Given the description of an element on the screen output the (x, y) to click on. 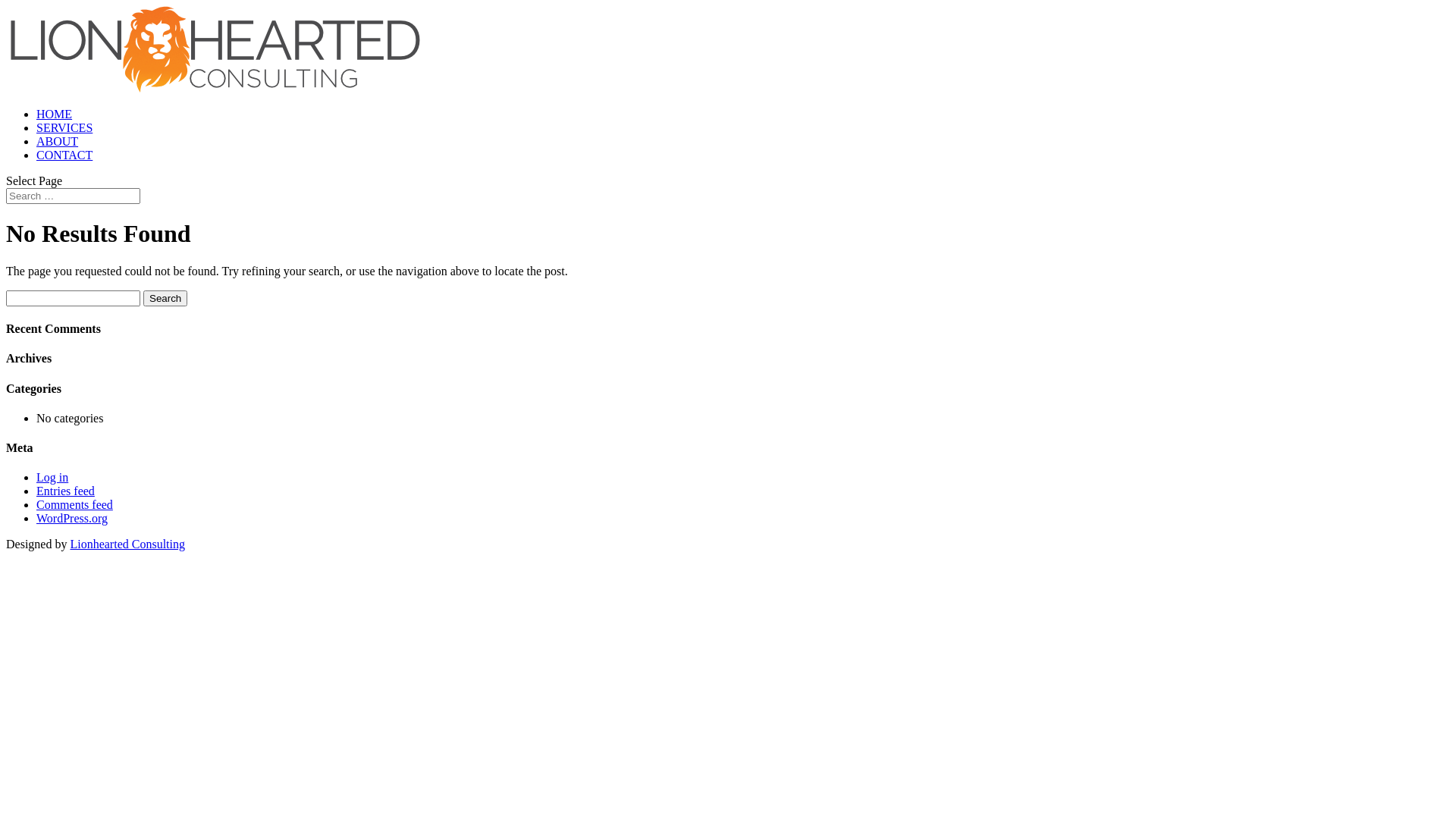
SERVICES Element type: text (64, 127)
Entries feed Element type: text (65, 490)
WordPress.org Element type: text (71, 517)
Comments feed Element type: text (74, 504)
Log in Element type: text (52, 476)
Search Element type: text (165, 298)
Search for: Element type: hover (73, 195)
ABOUT Element type: text (57, 140)
CONTACT Element type: text (64, 154)
HOME Element type: text (54, 113)
Lionhearted Consulting Element type: text (127, 543)
